Given the description of an element on the screen output the (x, y) to click on. 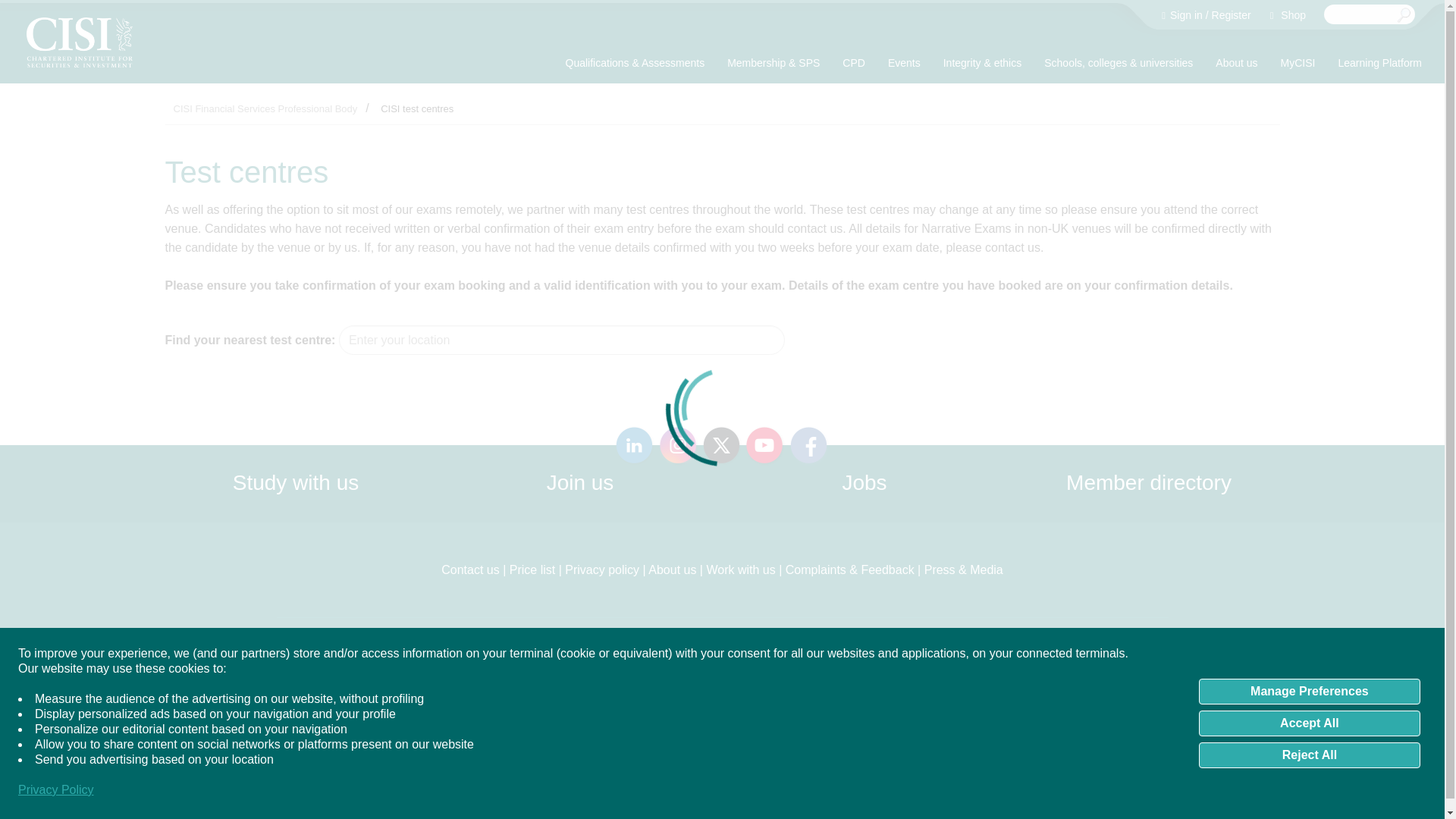
Search (1404, 14)
Search (1404, 14)
Manage Preferences (1309, 691)
Search (1404, 14)
Sign in (1184, 14)
CISI test centres (416, 109)
Shop (1287, 14)
Register (1230, 14)
Accept All (1309, 723)
